Given the description of an element on the screen output the (x, y) to click on. 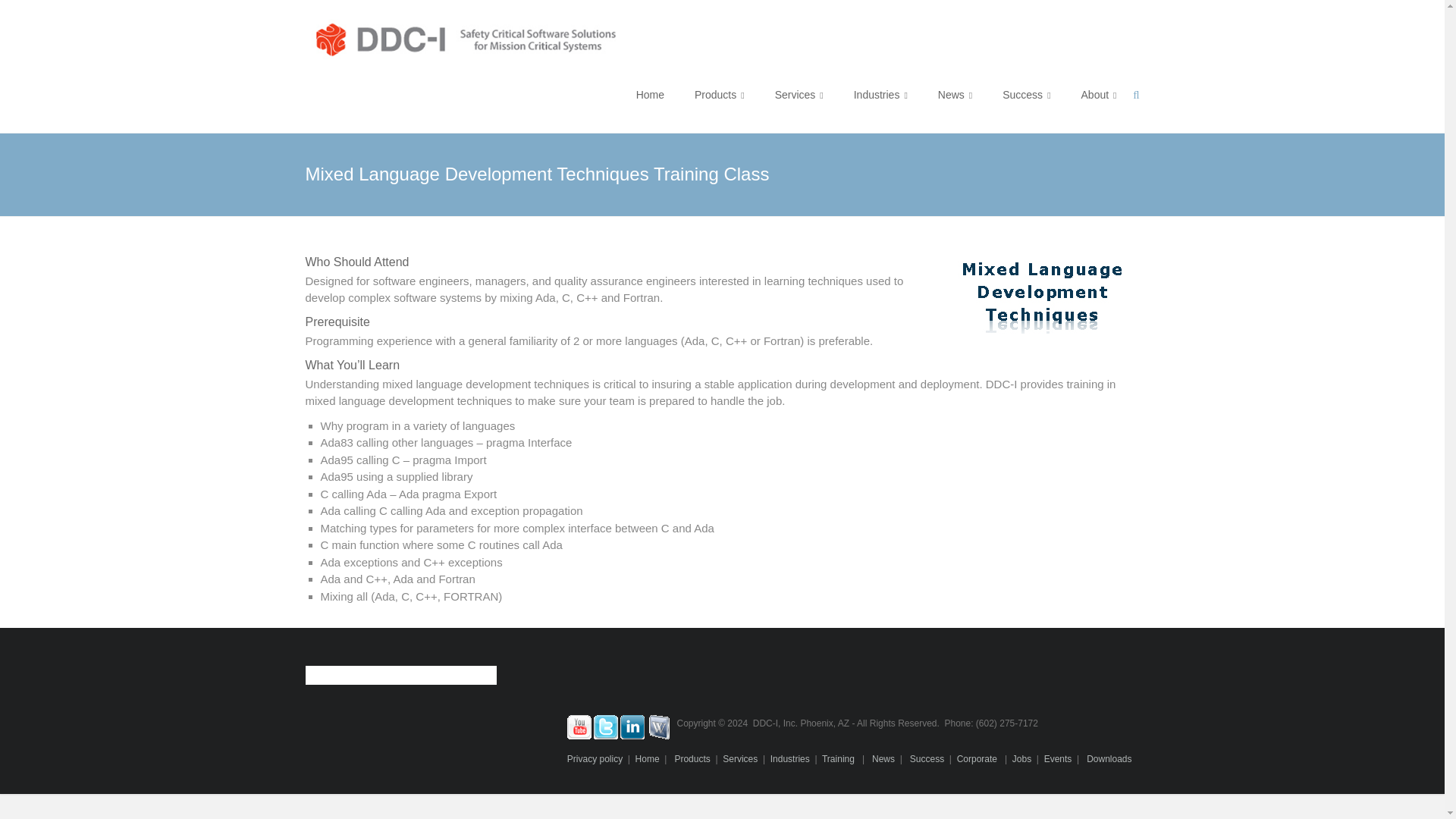
DDC-I (465, 26)
Services (799, 94)
Products (719, 94)
Success (1026, 94)
Industries (880, 94)
